Given the description of an element on the screen output the (x, y) to click on. 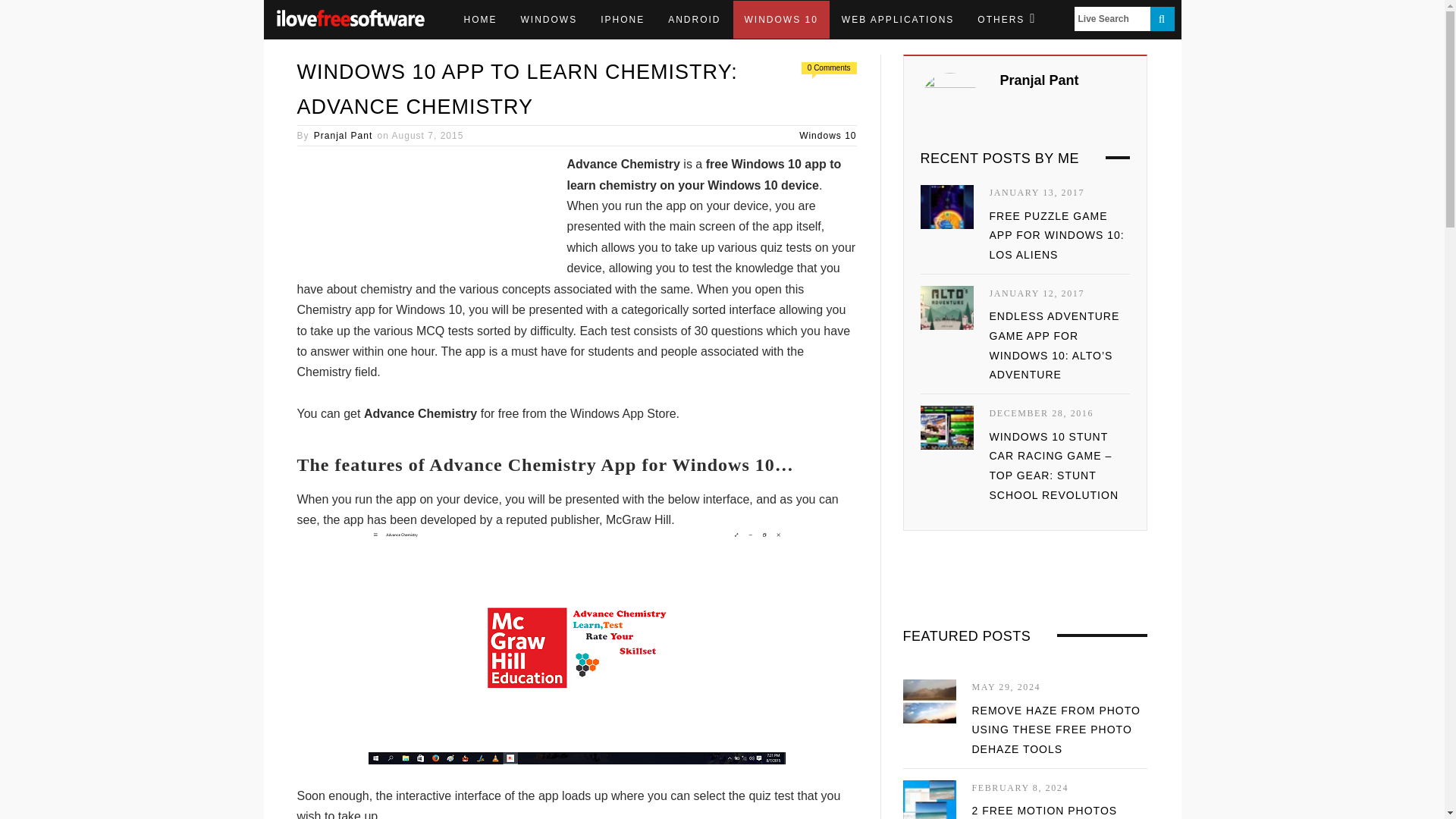
Pranjal Pant (343, 135)
IPHONE (622, 19)
0 Comments (829, 67)
SEARCH (1161, 18)
Advance Chemistry Main Screen (577, 646)
Free Puzzle Game App For Windows 10: LOS ALIENS (947, 207)
Windows 10 (827, 135)
OTHERS (1006, 19)
WINDOWS (549, 19)
ANDROID (694, 19)
